Given the description of an element on the screen output the (x, y) to click on. 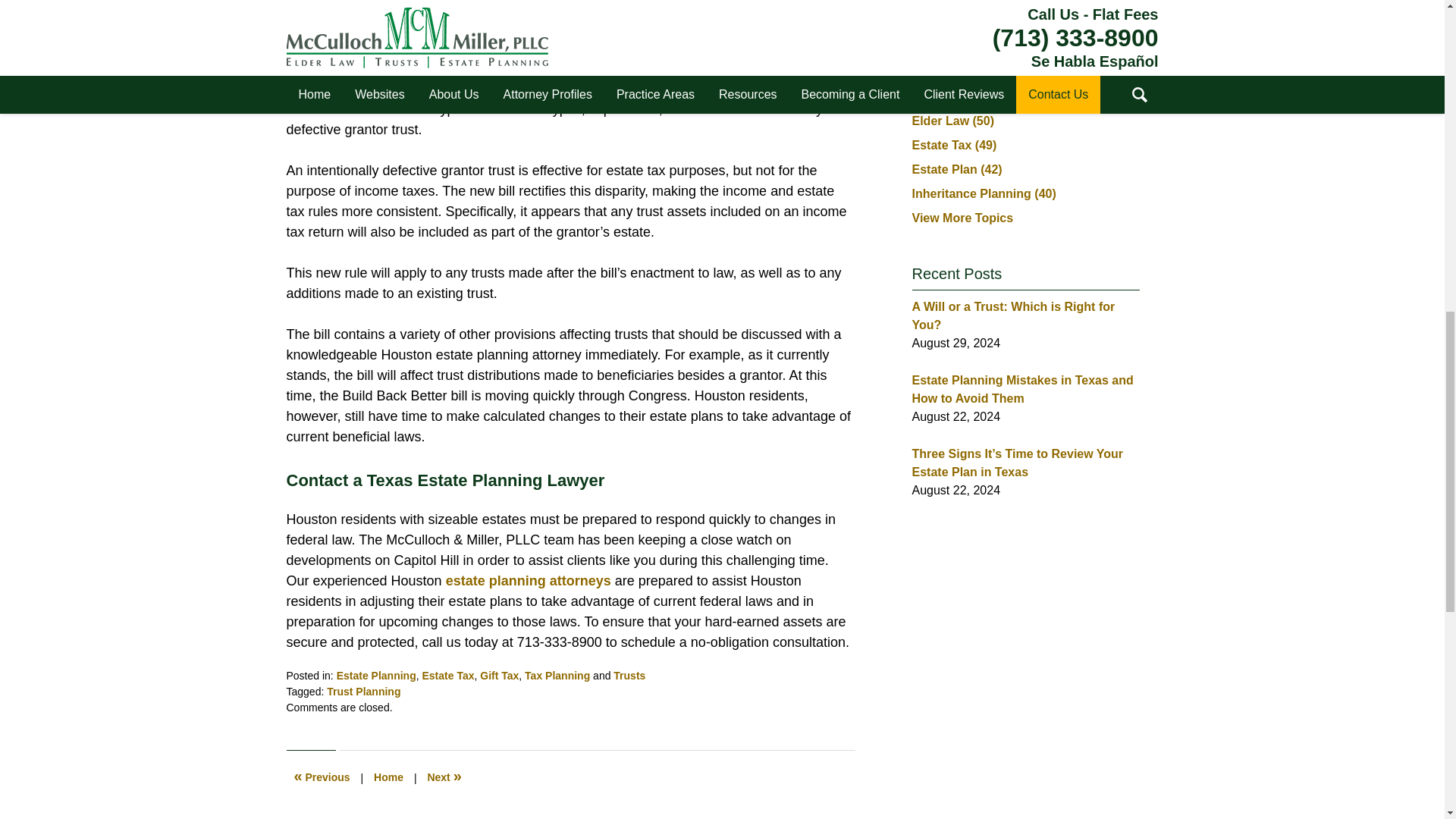
Moving to Texas? How to Revise Your Estate Plan (322, 777)
Estate Planning (376, 675)
View all posts in Estate Planning (376, 675)
View all posts in Gift Tax (499, 675)
View all posts in Estate Tax (448, 675)
Trust Planning (363, 691)
Estate Tax (448, 675)
View all posts in Tax Planning (556, 675)
View all posts tagged with Trust Planning (363, 691)
